Given the description of an element on the screen output the (x, y) to click on. 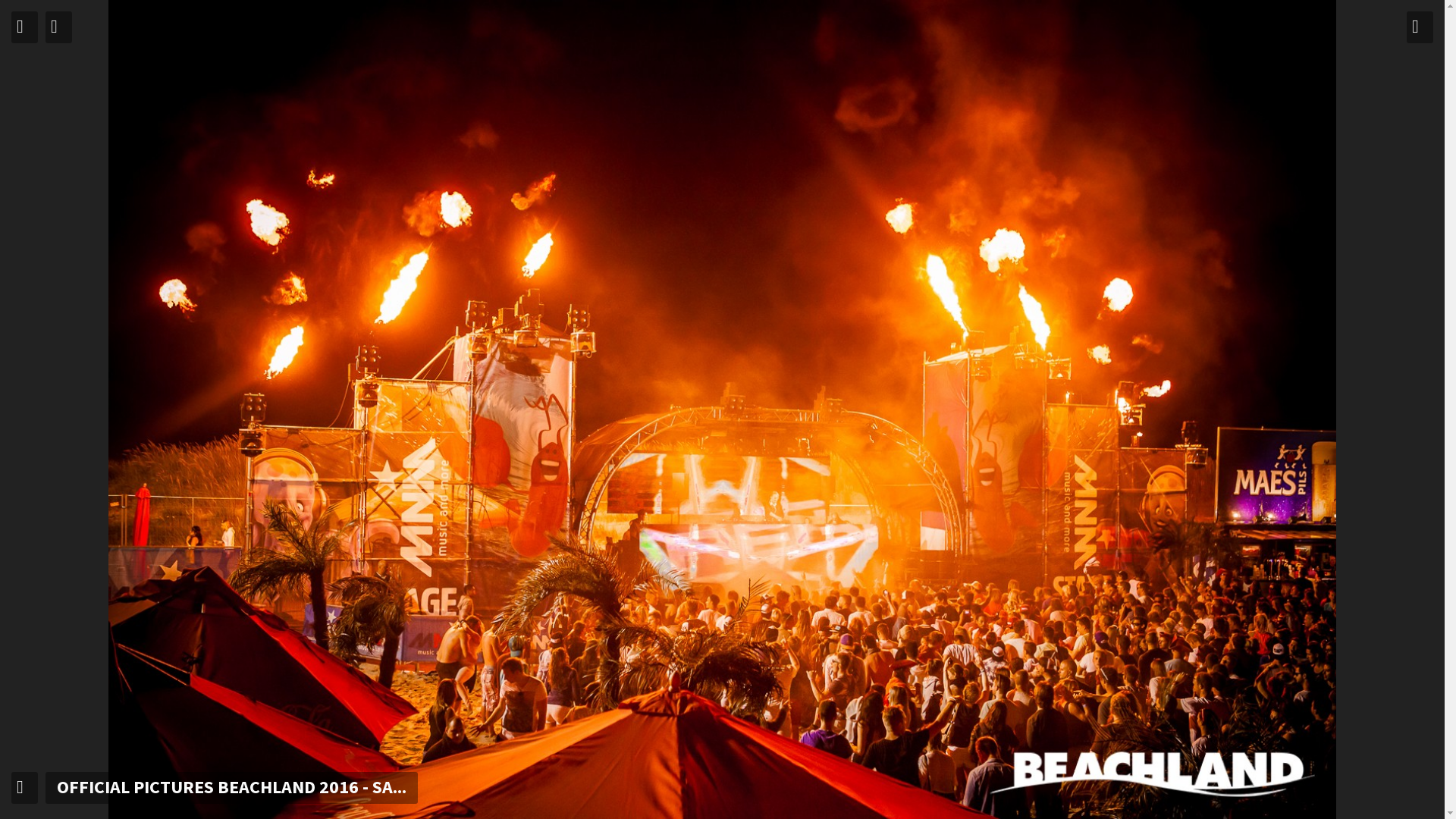
  Element type: text (58, 27)
  Element type: text (1419, 27)
  Element type: text (24, 27)
  Element type: text (24, 787)
OFFICIAL PICTURES BEACHLAND 2016 - SA... Element type: text (231, 787)
